Given the description of an element on the screen output the (x, y) to click on. 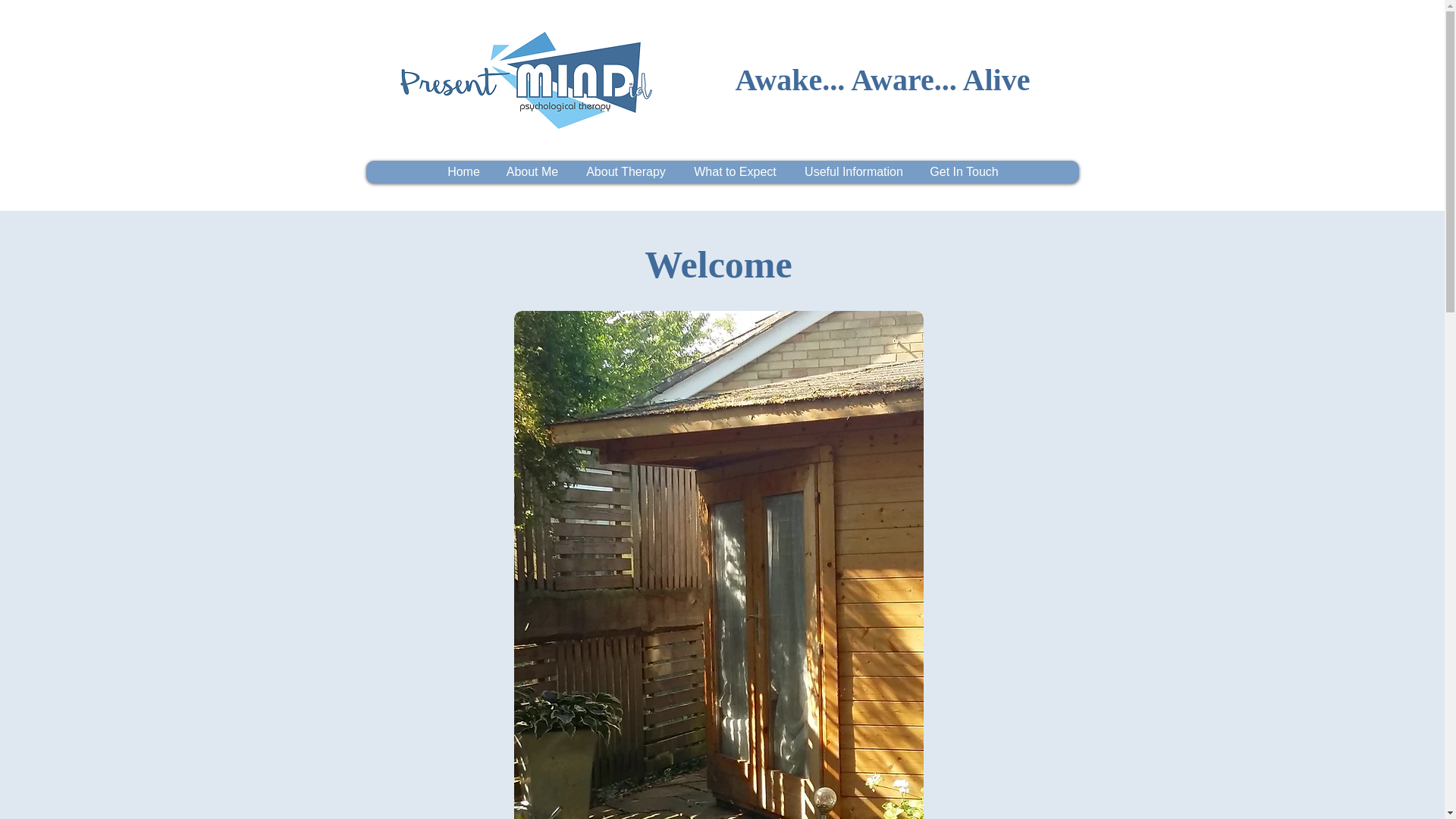
About Me (532, 171)
About Therapy (625, 171)
What to Expect (734, 171)
Get In Touch (963, 171)
Home (462, 171)
Useful Information (853, 171)
